Given the description of an element on the screen output the (x, y) to click on. 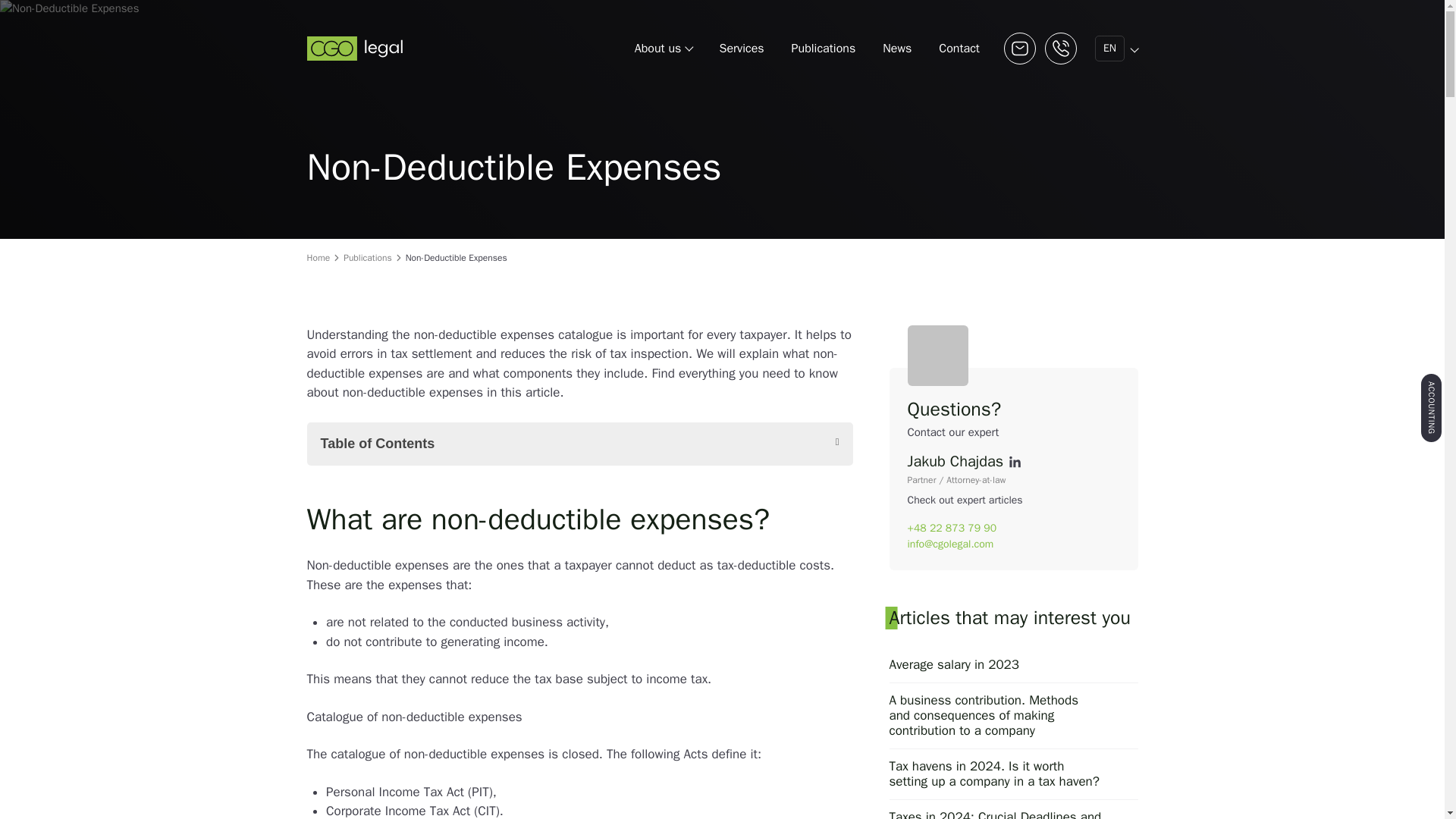
Home (317, 257)
EN (1110, 48)
News (896, 47)
Services (741, 47)
Contact (959, 47)
Publications (367, 257)
Table of Contents (578, 444)
Publications (823, 47)
About us (663, 47)
